Given the description of an element on the screen output the (x, y) to click on. 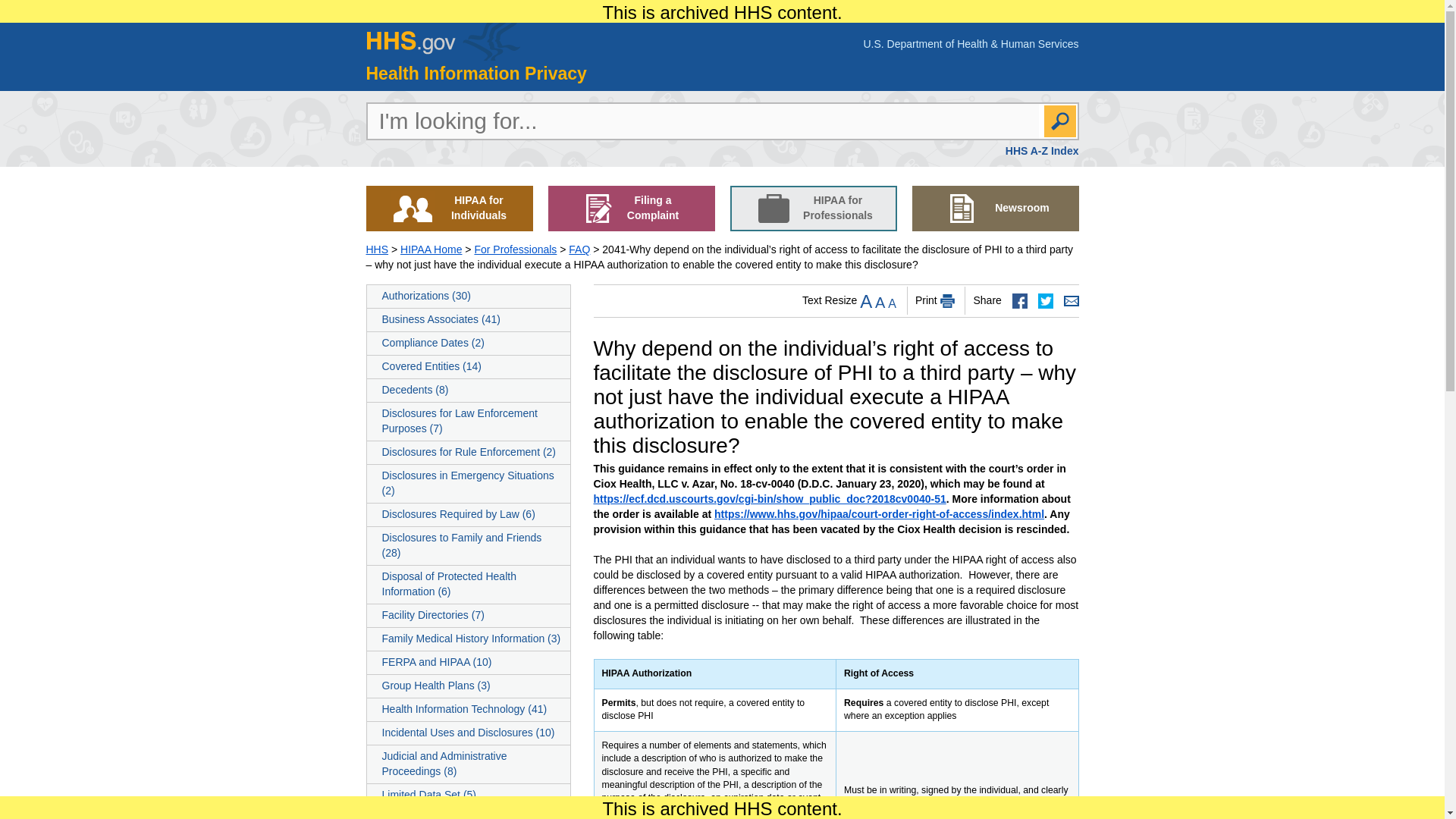
Search (1059, 121)
Facebook (1019, 300)
HIPAA Home (430, 249)
Search (1059, 121)
HHS A-Z Index (1042, 150)
Health Information Privacy (475, 73)
Newsroom (994, 207)
HHS (442, 41)
